Given the description of an element on the screen output the (x, y) to click on. 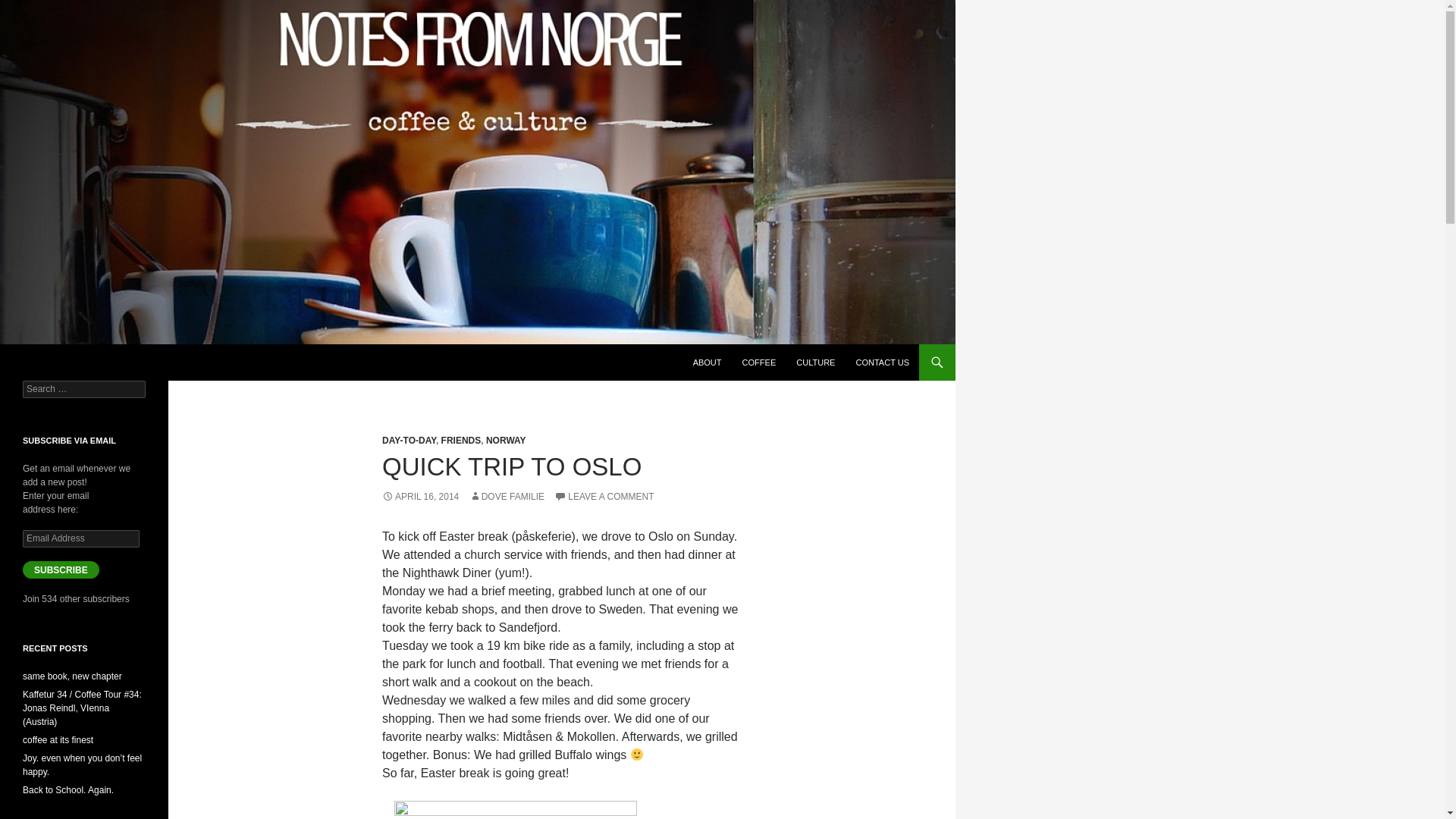
DAY-TO-DAY (408, 439)
Notes from Norge (80, 361)
NORWAY (505, 439)
LEAVE A COMMENT (603, 496)
ABOUT (707, 361)
APRIL 16, 2014 (419, 496)
FRIENDS (461, 439)
CONTACT US (881, 361)
CULTURE (815, 361)
COFFEE (759, 361)
Search (30, 8)
same book, new chapter (72, 675)
coffee at its finest (58, 739)
DOVE FAMILIE (506, 496)
